Given the description of an element on the screen output the (x, y) to click on. 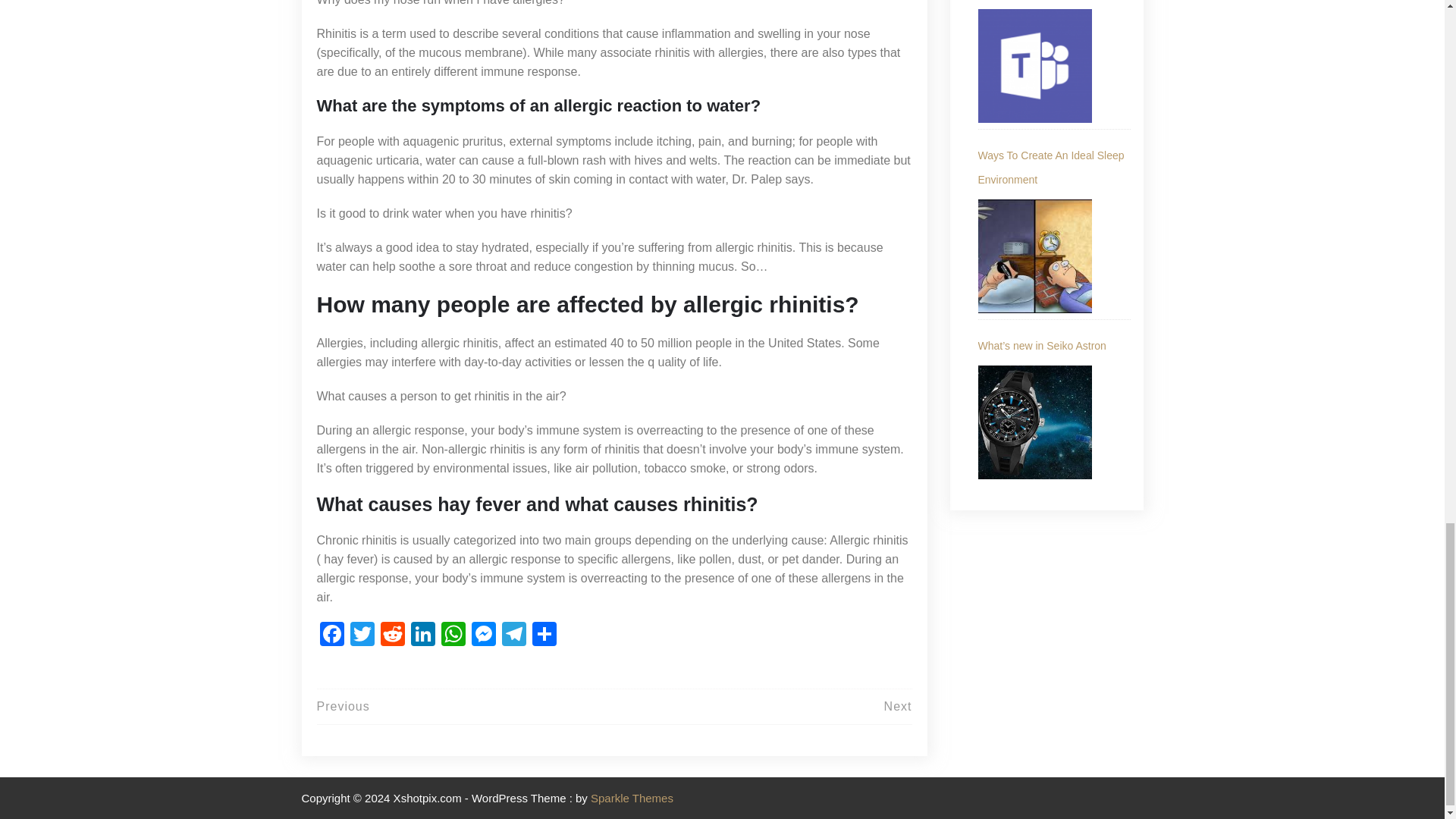
LinkedIn (422, 635)
Twitter (362, 635)
LinkedIn (422, 635)
Ways To Create An Ideal Sleep Environment (1054, 167)
Next (897, 706)
Messenger (483, 635)
Facebook (332, 635)
Telegram (514, 635)
Messenger (483, 635)
Reddit (392, 635)
